Given the description of an element on the screen output the (x, y) to click on. 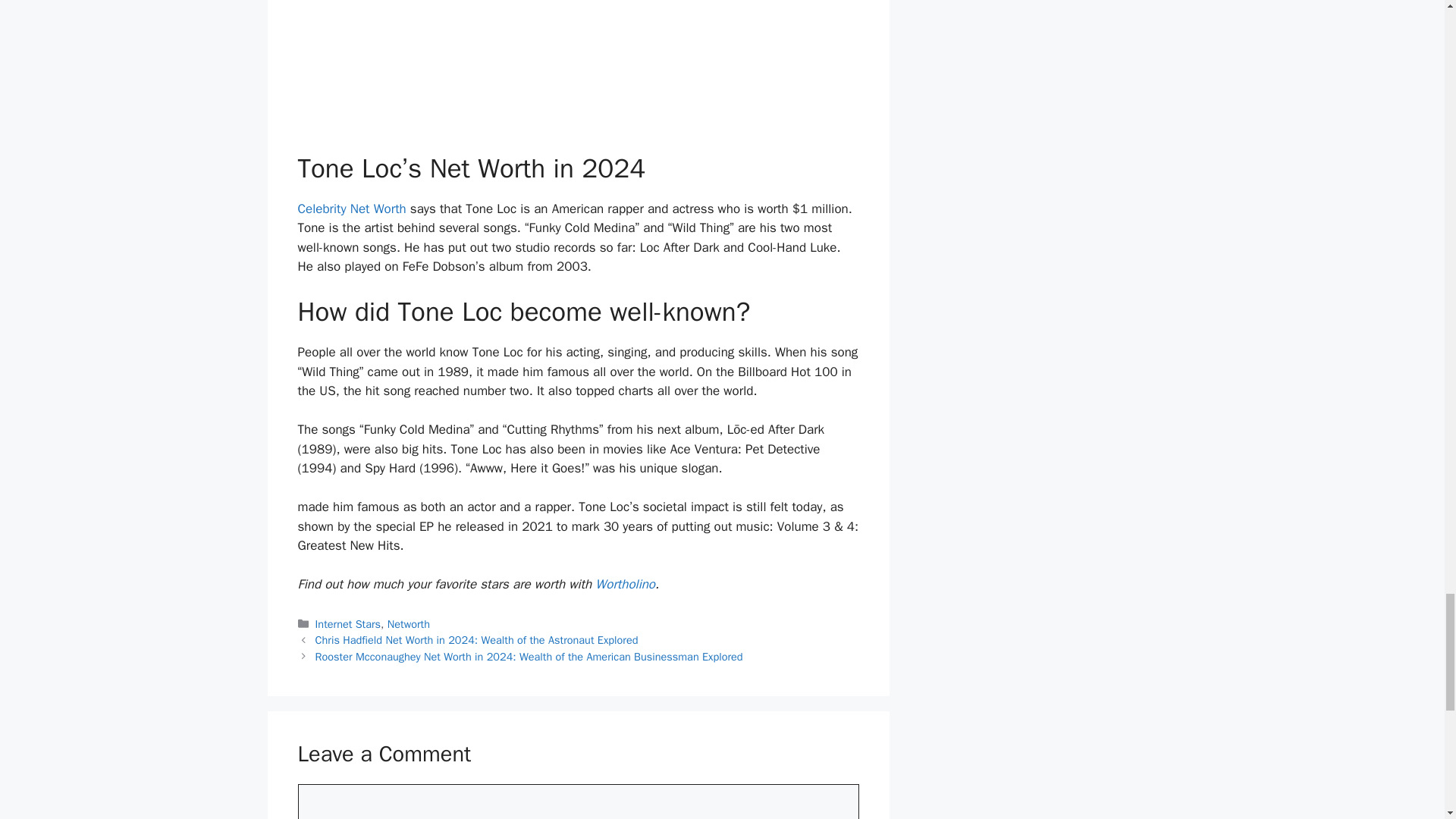
Internet Stars (347, 623)
Networth (408, 623)
Wortholino (625, 584)
Celebrity Net Worth (351, 208)
